Given the description of an element on the screen output the (x, y) to click on. 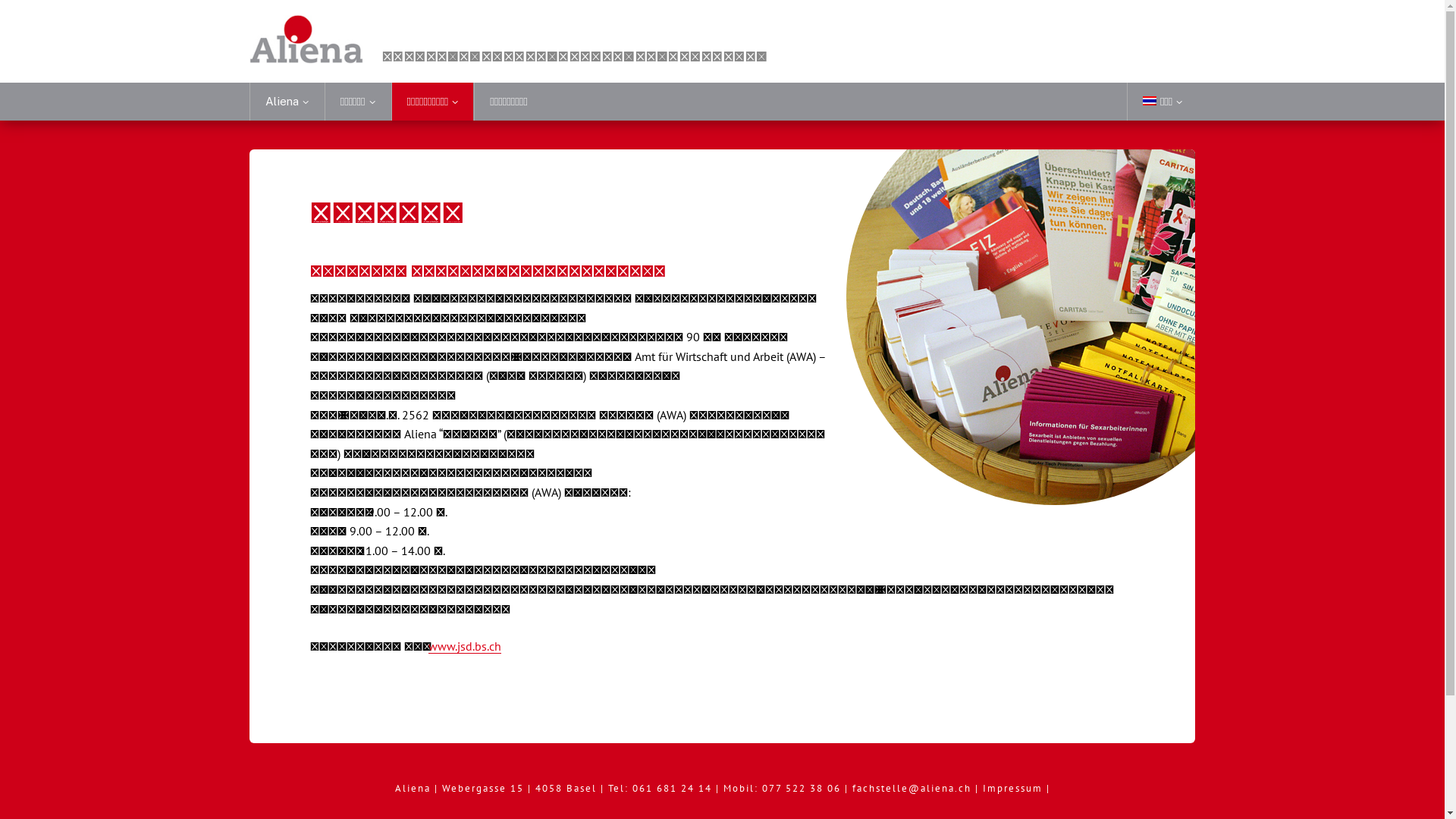
| Element type: text (978, 787)
Aliena Element type: text (286, 101)
Impressum Element type: text (1014, 787)
fachstelle@aliena.ch Element type: text (911, 787)
www.jsd.bs.ch Element type: text (464, 645)
